Given the description of an element on the screen output the (x, y) to click on. 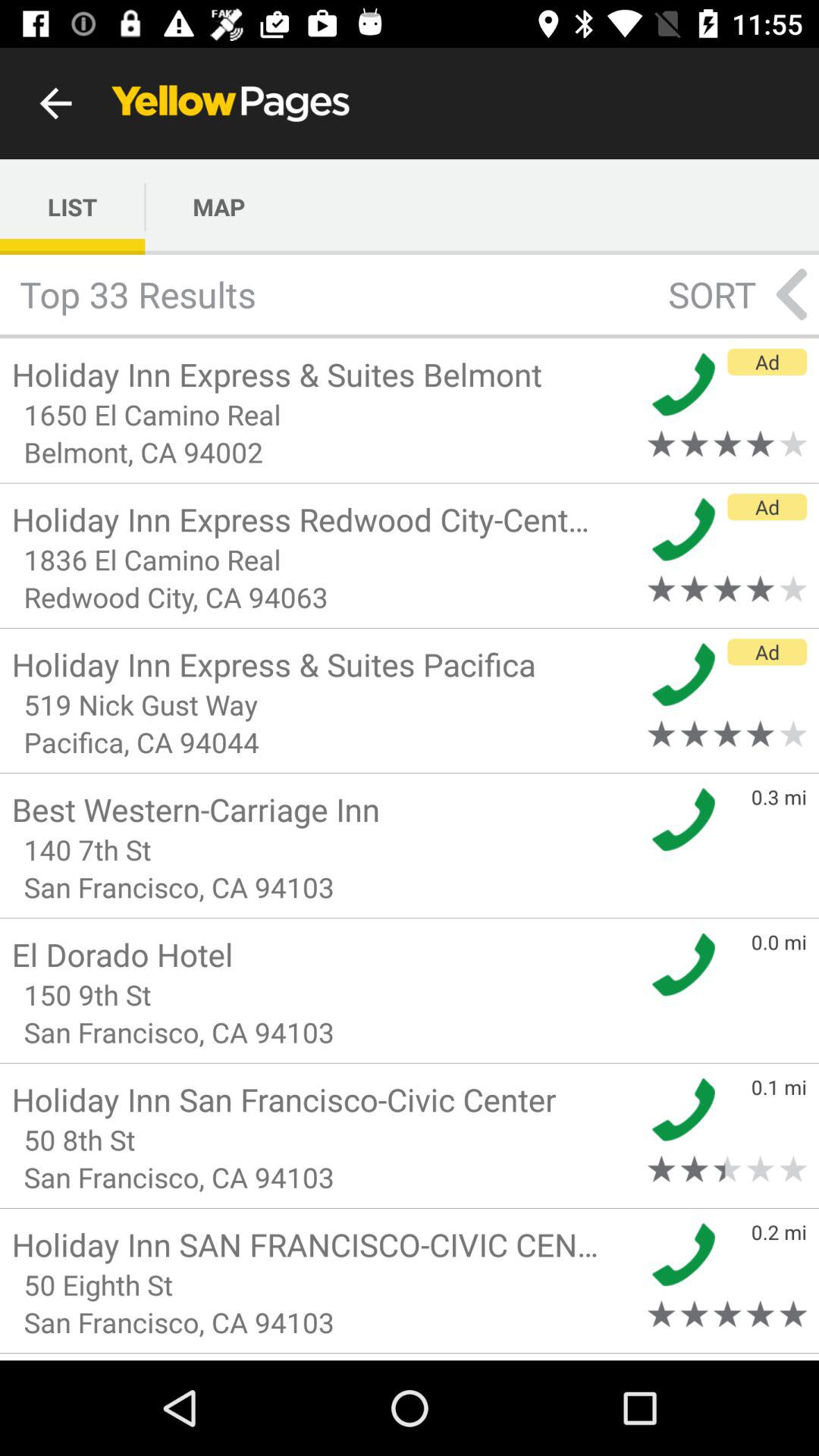
open the icon next to sort item (791, 294)
